Given the description of an element on the screen output the (x, y) to click on. 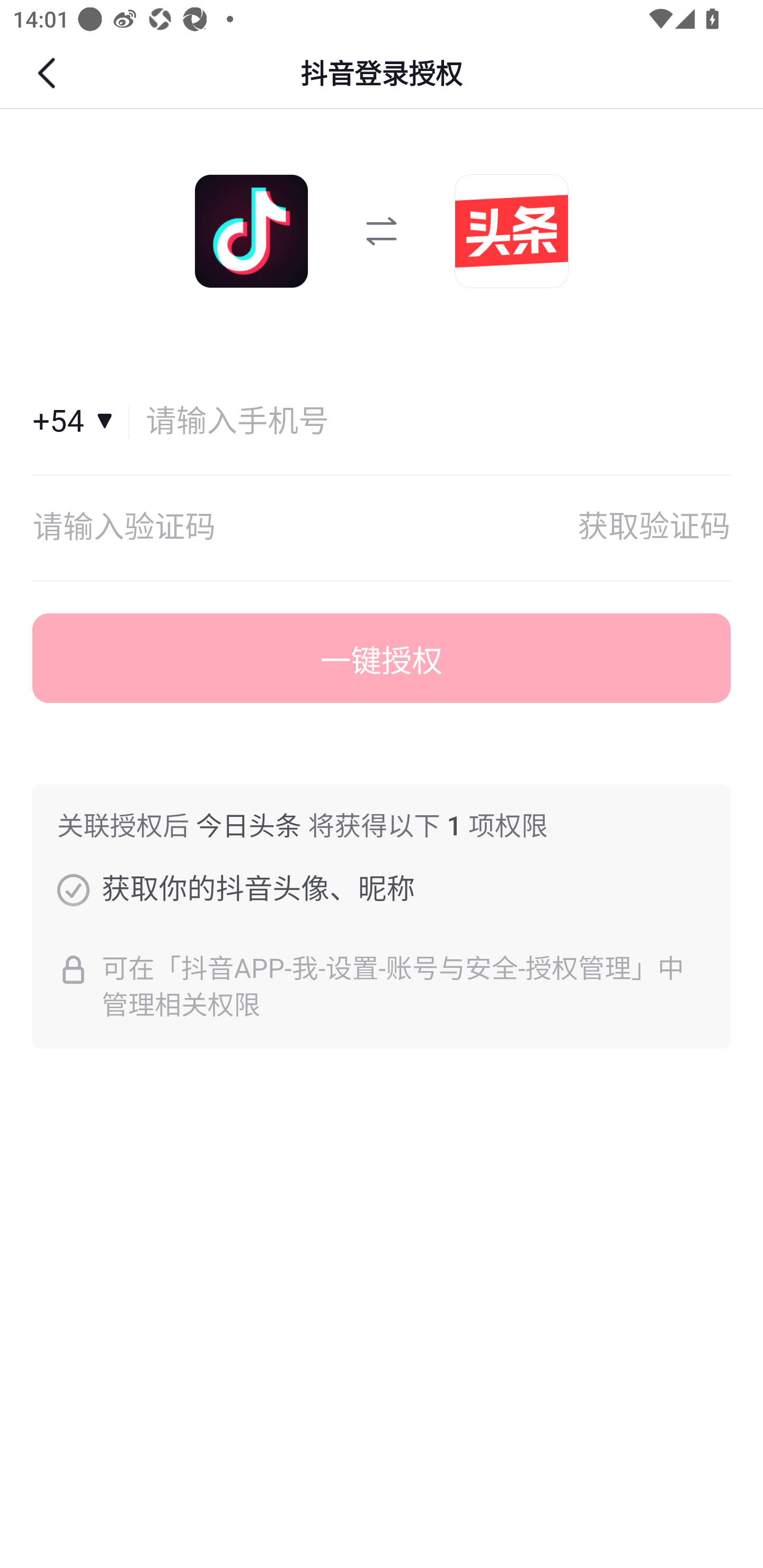
返回 (49, 72)
国家和地区+54 (81, 421)
获取验证码 (653, 527)
一键授权 (381, 658)
获取你的抖音头像、昵称 (72, 889)
